Given the description of an element on the screen output the (x, y) to click on. 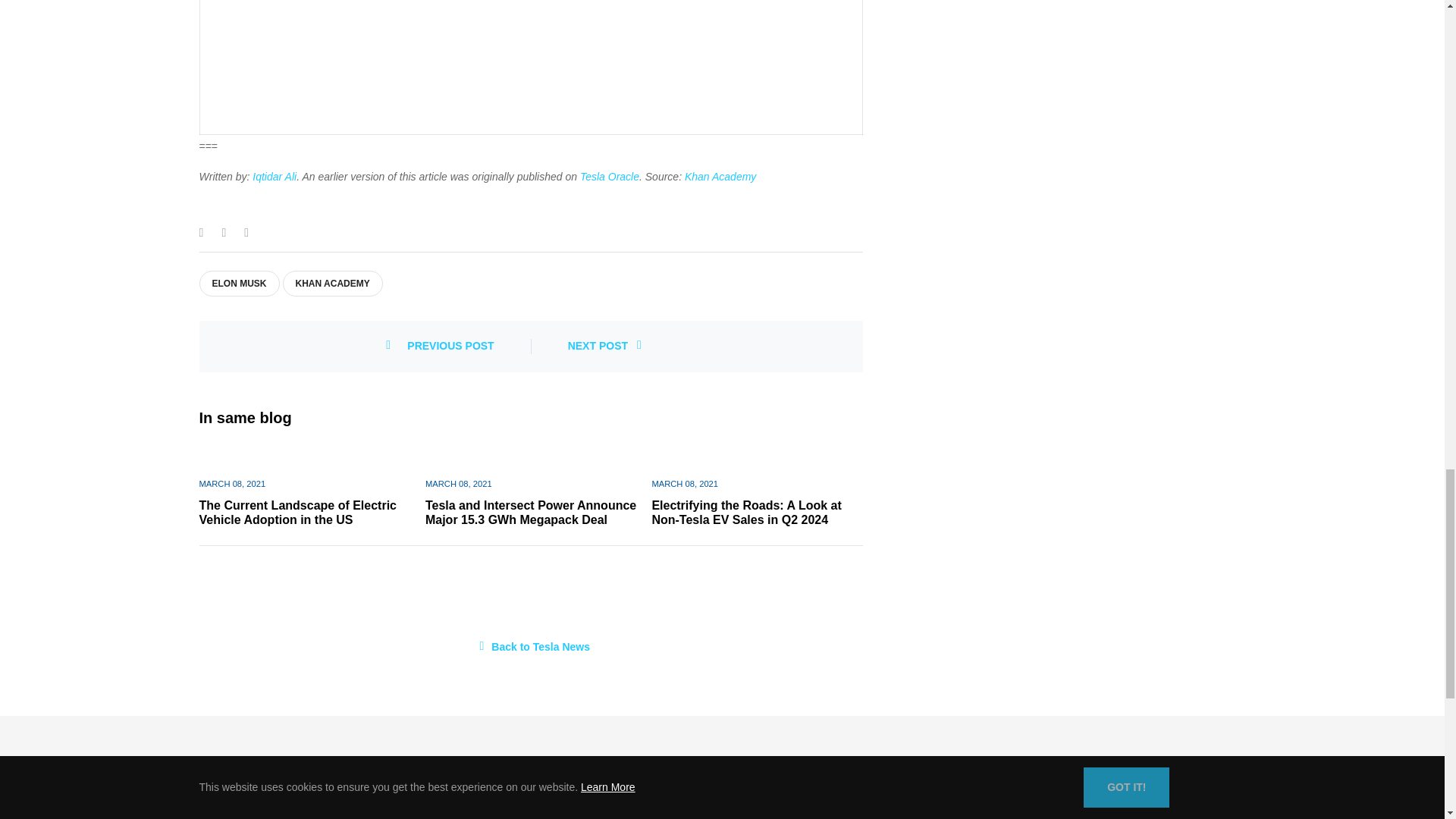
Show articles tagged Elon Musk (239, 283)
Show articles tagged khan academy (332, 283)
